Given the description of an element on the screen output the (x, y) to click on. 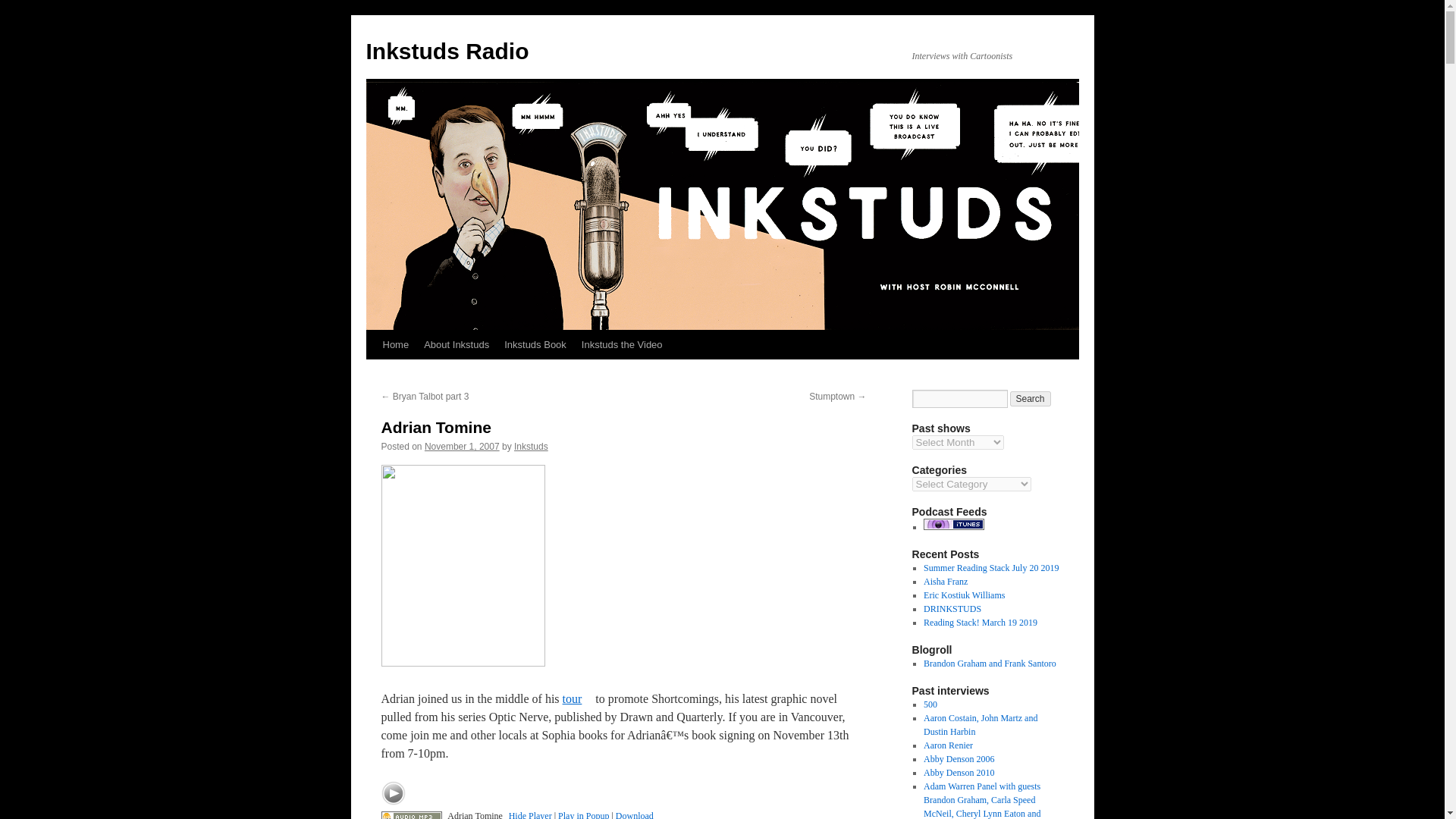
Hide Player (529, 814)
Inkstuds (530, 446)
About Inkstuds (456, 344)
Abby Denson 2010 (958, 772)
Brandon Graham and Frank Santoro (990, 663)
500 (930, 704)
Aaron Renier (947, 745)
Inkstuds Book (534, 344)
DRINKSTUDS (952, 608)
5:09 pm (462, 446)
Inkstuds Radio (446, 50)
Subscribe to the Podcast Feed with iTunes (953, 526)
Eric Kostiuk Williams (963, 594)
View all posts by Inkstuds (530, 446)
